Given the description of an element on the screen output the (x, y) to click on. 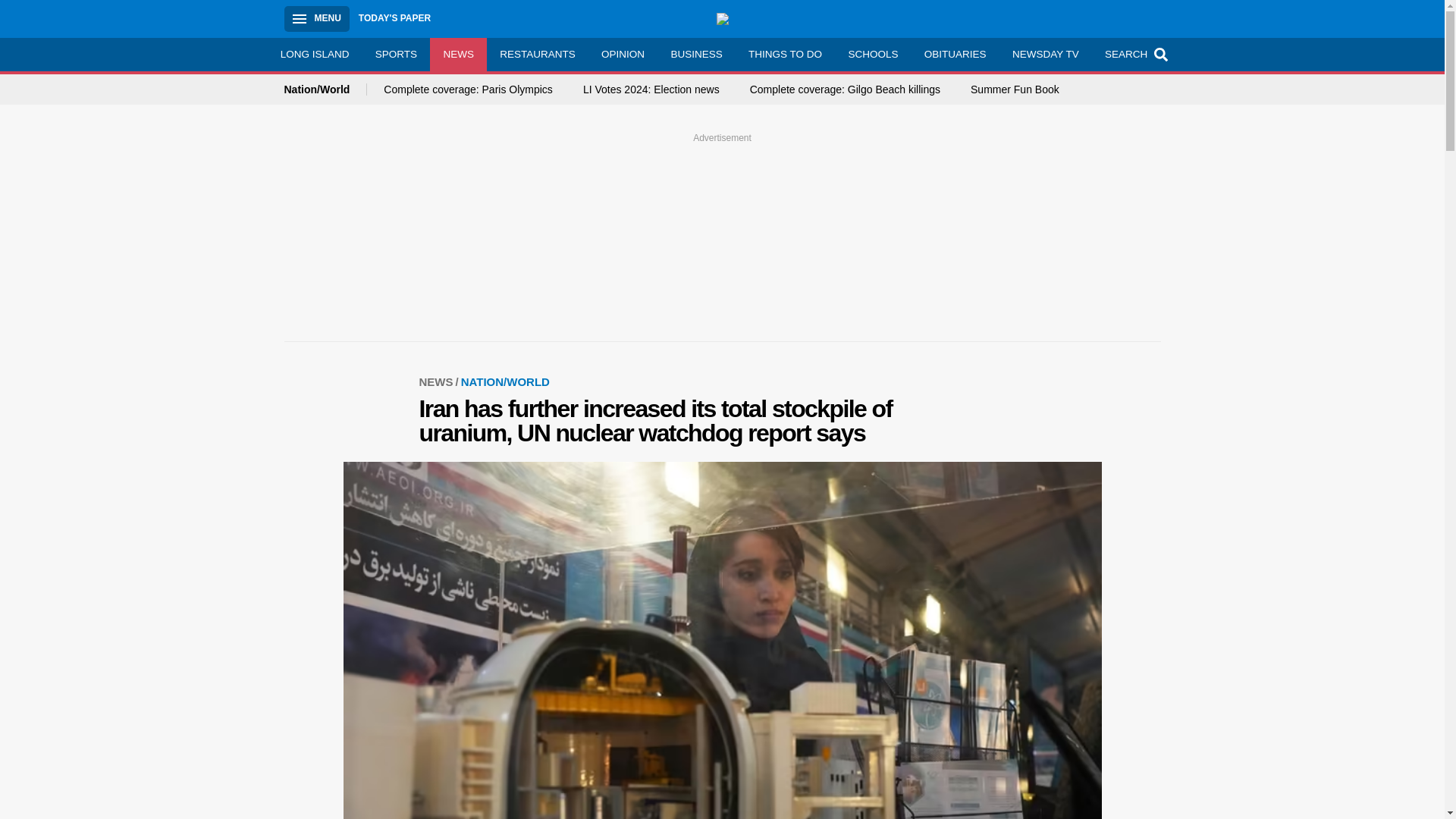
Complete coverage: Gilgo Beach killings (844, 89)
OBITUARIES (954, 54)
SEARCH (1134, 54)
LONG ISLAND (313, 54)
RESTAURANTS (537, 54)
LI Votes 2024: Election news (651, 89)
NEWS (457, 54)
NEWSDAY TV (1045, 54)
THINGS TO DO (784, 54)
BUSINESS (696, 54)
Summer Fun Book (1015, 89)
MENU (316, 18)
SCHOOLS (872, 54)
SPORTS (396, 54)
Complete coverage: Paris Olympics (468, 89)
